Given the description of an element on the screen output the (x, y) to click on. 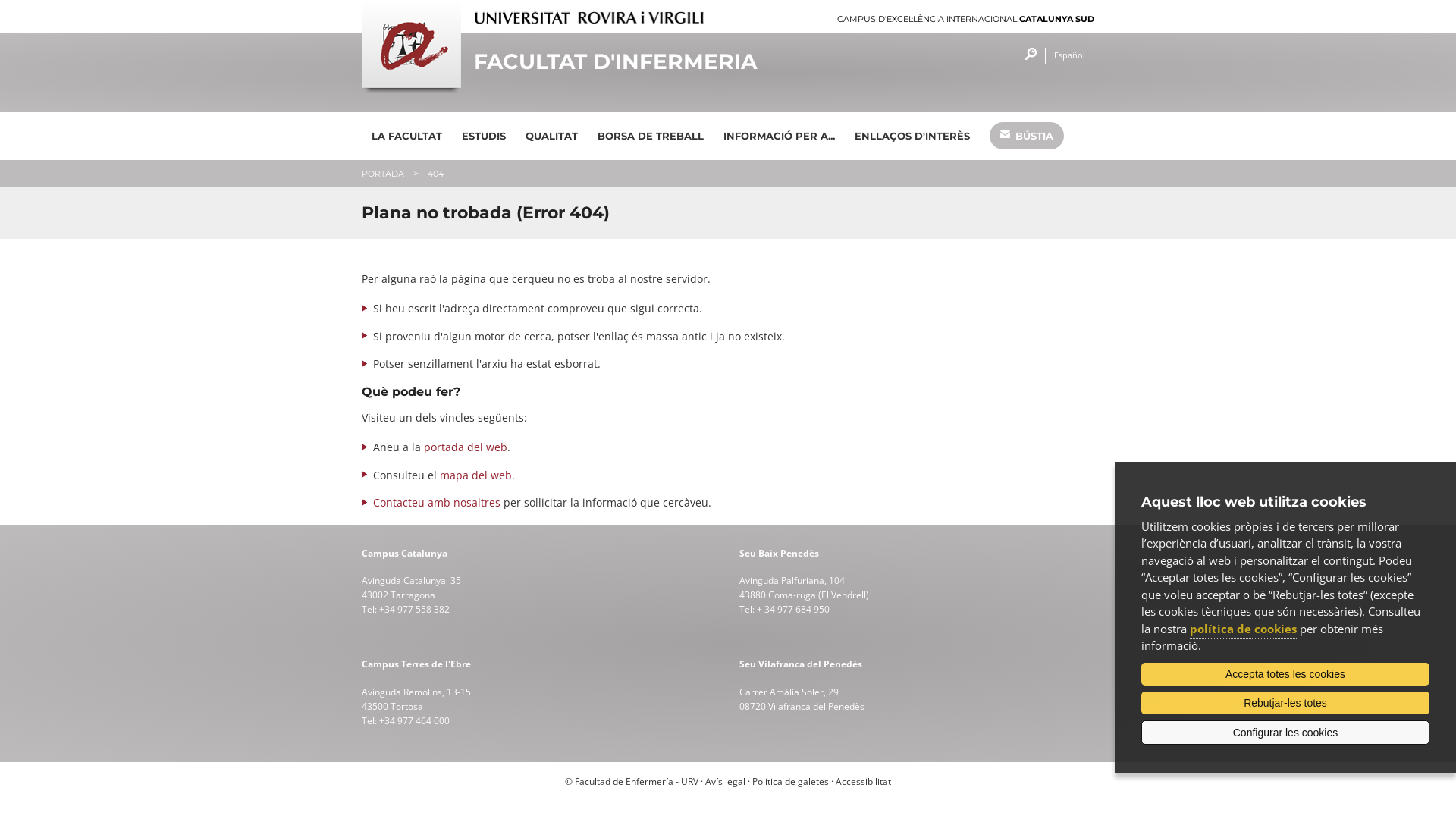
LA FACULTAT Element type: text (406, 136)
Configurar les cookies Element type: text (1285, 732)
BORSA DE TREBALL Element type: text (650, 136)
QUALITAT Element type: text (551, 136)
Cercar Element type: text (1026, 55)
mapa del web Element type: text (475, 474)
Accepta totes les cookies Element type: text (1285, 673)
portada del web Element type: text (465, 446)
FACULTAT D'INFERMERIA Element type: text (633, 61)
Rebutjar-les totes Element type: text (1285, 702)
Accessibilitat Element type: text (863, 781)
ESTUDIS Element type: text (483, 136)
Contacteu amb nosaltres Element type: text (436, 502)
PORTADA Element type: text (382, 173)
